Given the description of an element on the screen output the (x, y) to click on. 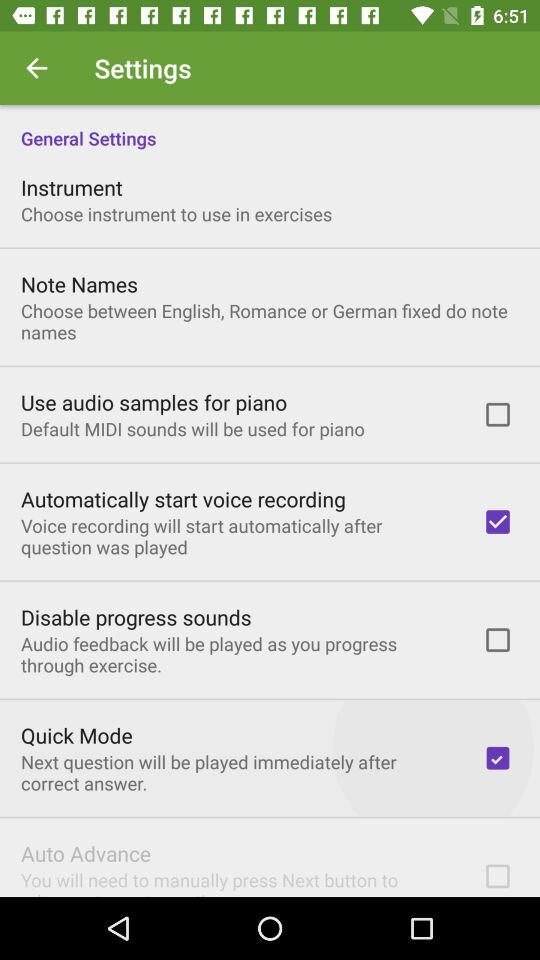
click the item above next question will (76, 735)
